Given the description of an element on the screen output the (x, y) to click on. 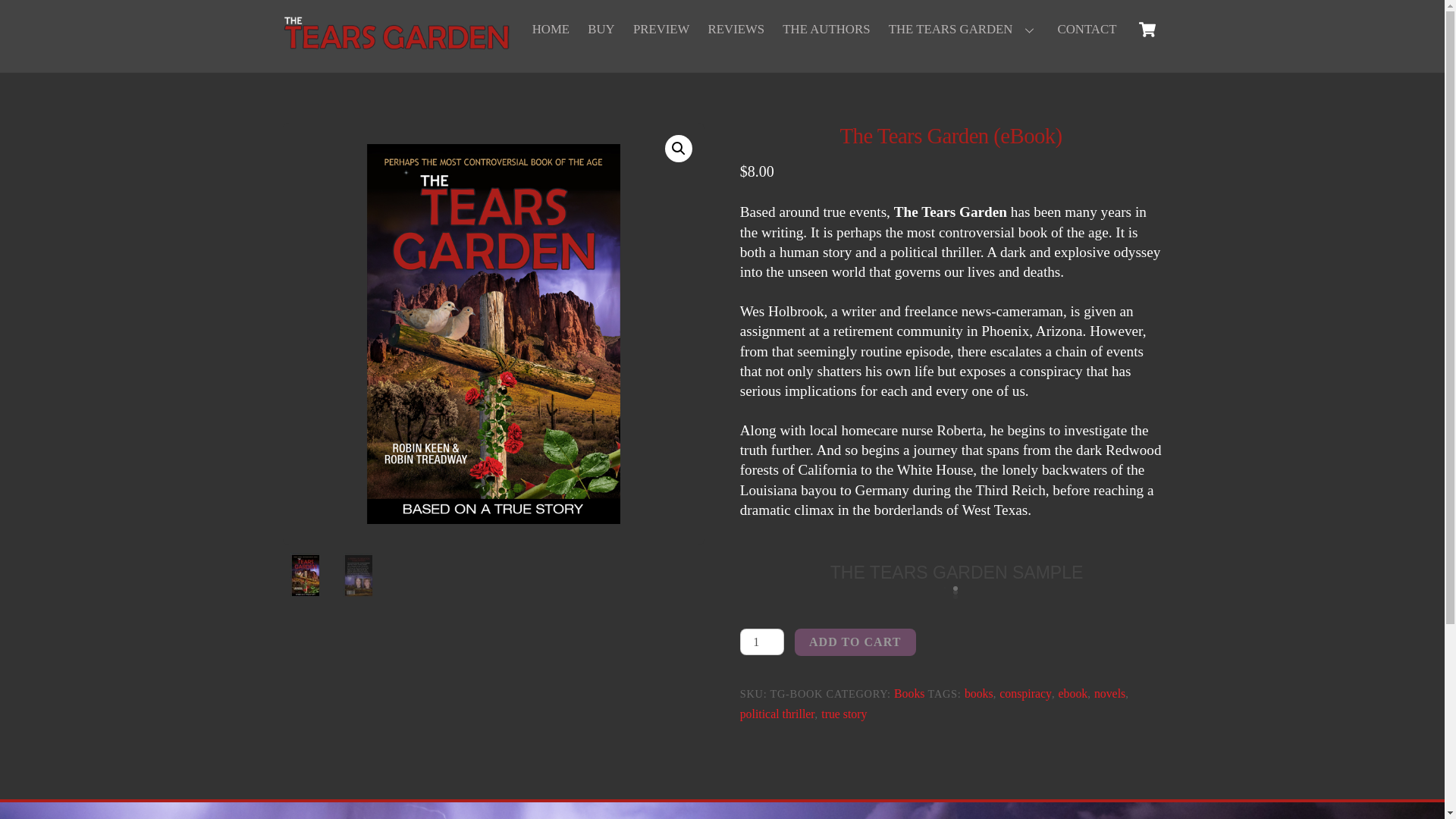
THE TEARS GARDEN (963, 29)
HOME (551, 29)
Cart (1146, 29)
conspiracy (1024, 693)
PREVIEW (661, 29)
REVIEWS (736, 29)
ebook (1072, 693)
The Tears Garden (395, 42)
BUY (601, 29)
1 (761, 641)
true story (843, 713)
